Given the description of an element on the screen output the (x, y) to click on. 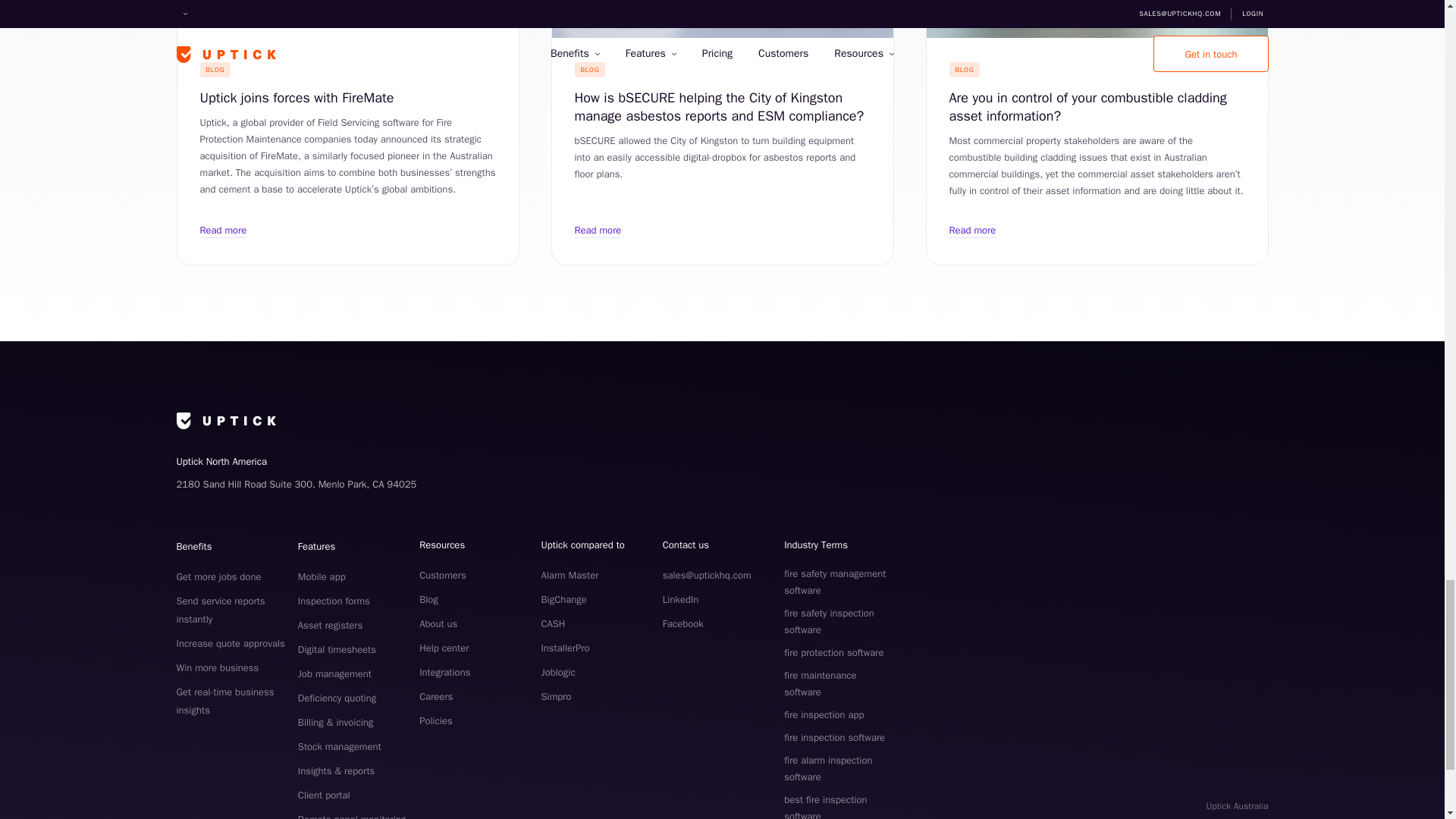
Read more (598, 229)
Send service reports instantly (220, 609)
Increase quote approvals (229, 643)
Read more (972, 229)
Benefits (193, 545)
Get real-time business insights (224, 700)
Switch to our Uptick UK site (1237, 817)
Features (316, 545)
Win more business (217, 667)
Read more (223, 229)
Get more jobs done (218, 576)
Switch to our Uptick Australia site (1237, 805)
